Given the description of an element on the screen output the (x, y) to click on. 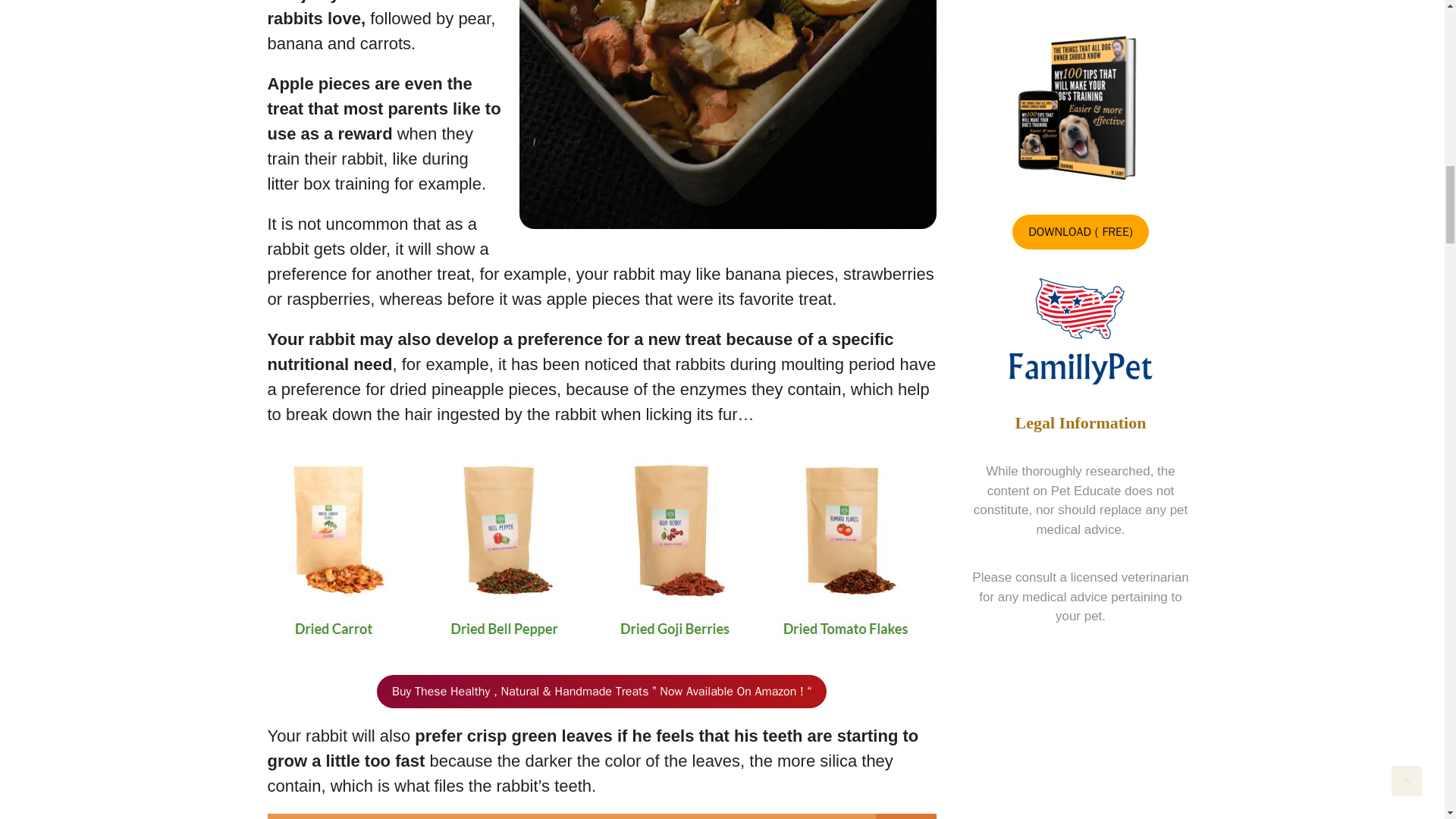
What are Rabbits Favorite Treats ? 2 (727, 114)
What are Rabbits Favorite Treats ? 3 (602, 549)
